Given the description of an element on the screen output the (x, y) to click on. 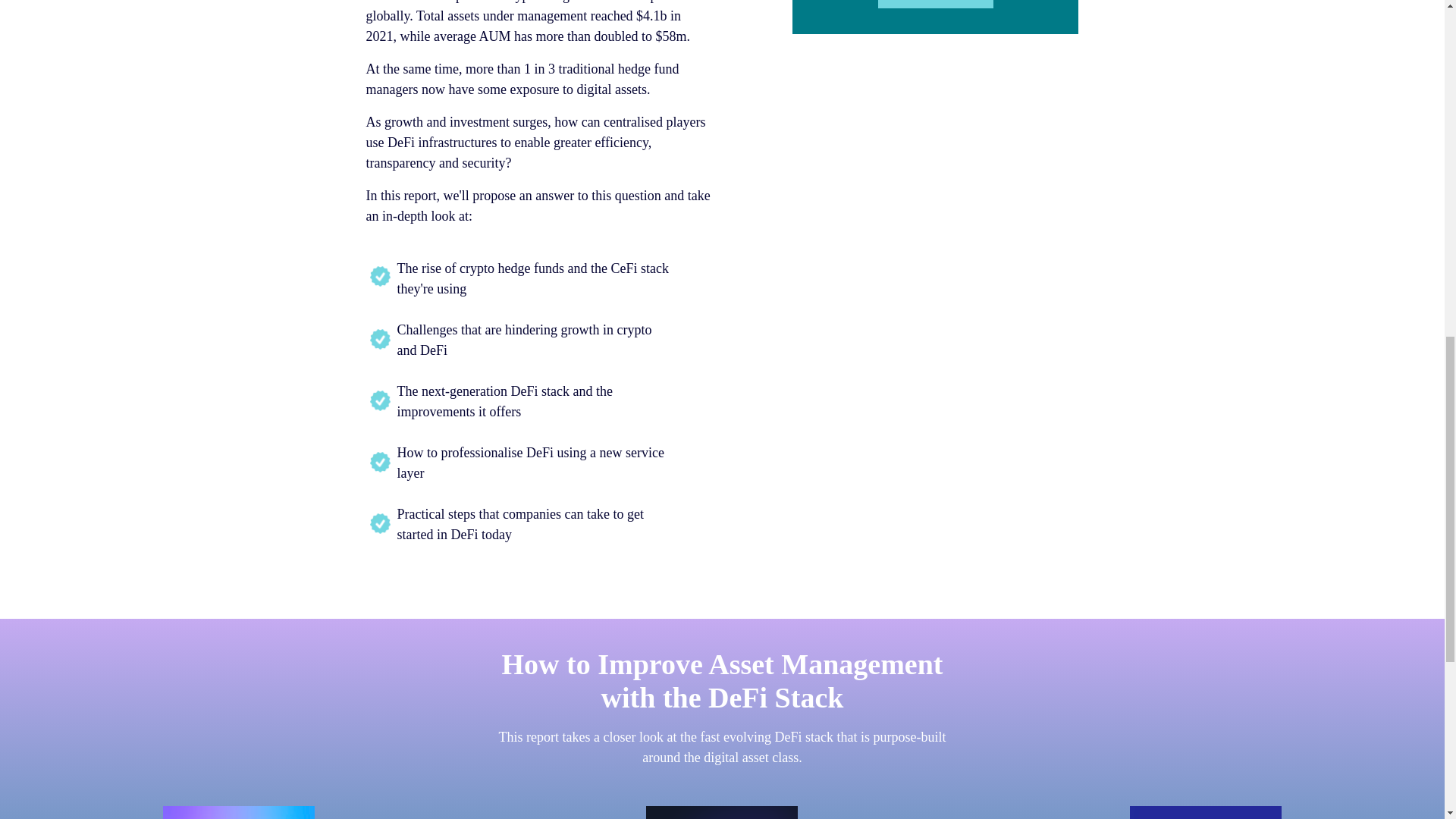
Submit (934, 4)
Temp-200x200 (238, 812)
Submit (934, 4)
DeFi Service Layer (1205, 812)
